Given the description of an element on the screen output the (x, y) to click on. 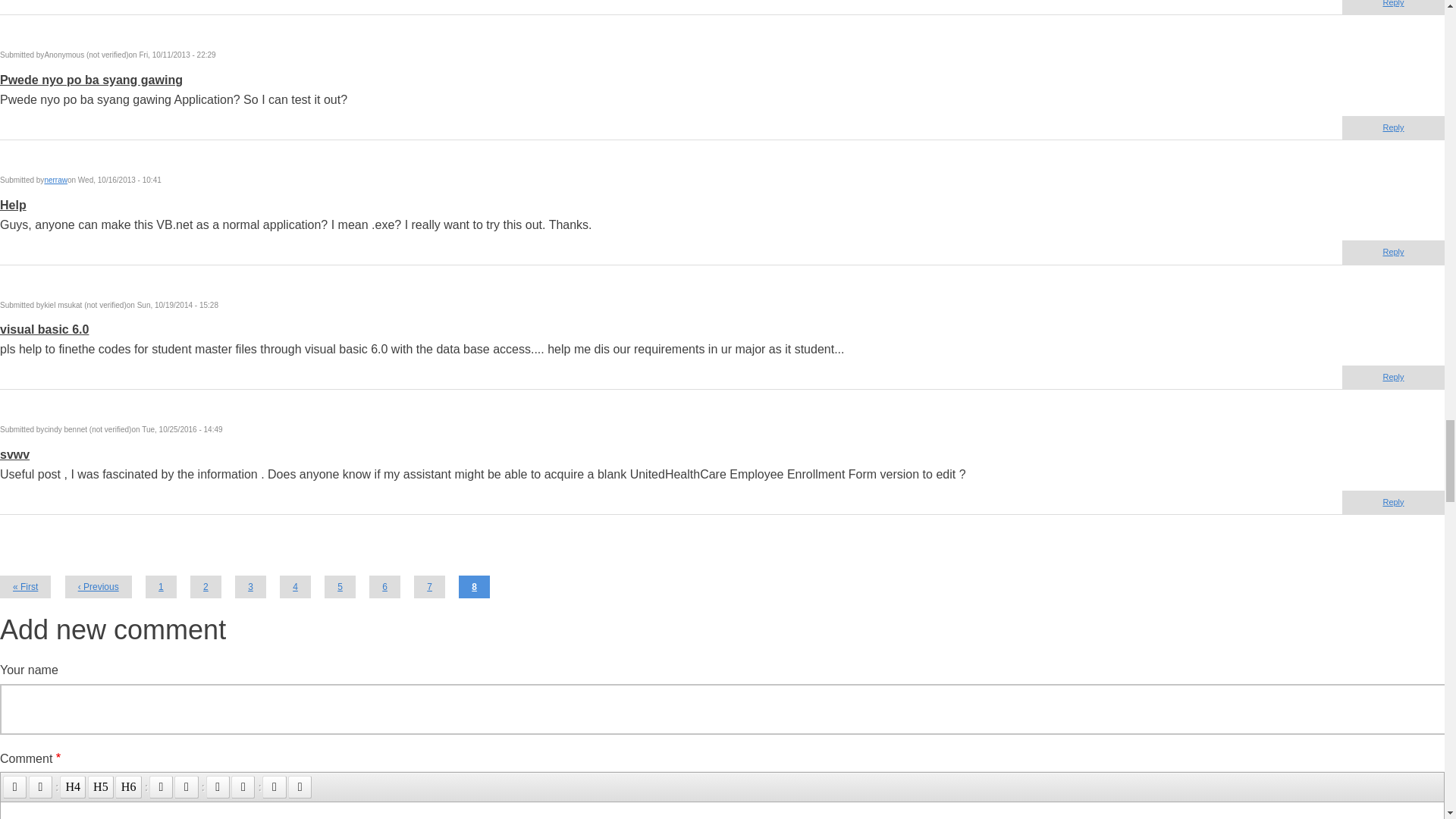
Go to previous page (98, 586)
Go to page 2 (205, 586)
Go to page 6 (384, 586)
Go to first page (25, 586)
Go to page 7 (429, 586)
Go to page 4 (295, 586)
View user profile. (54, 180)
Go to page 3 (250, 586)
Go to page 5 (339, 586)
Go to page 1 (160, 586)
